Given the description of an element on the screen output the (x, y) to click on. 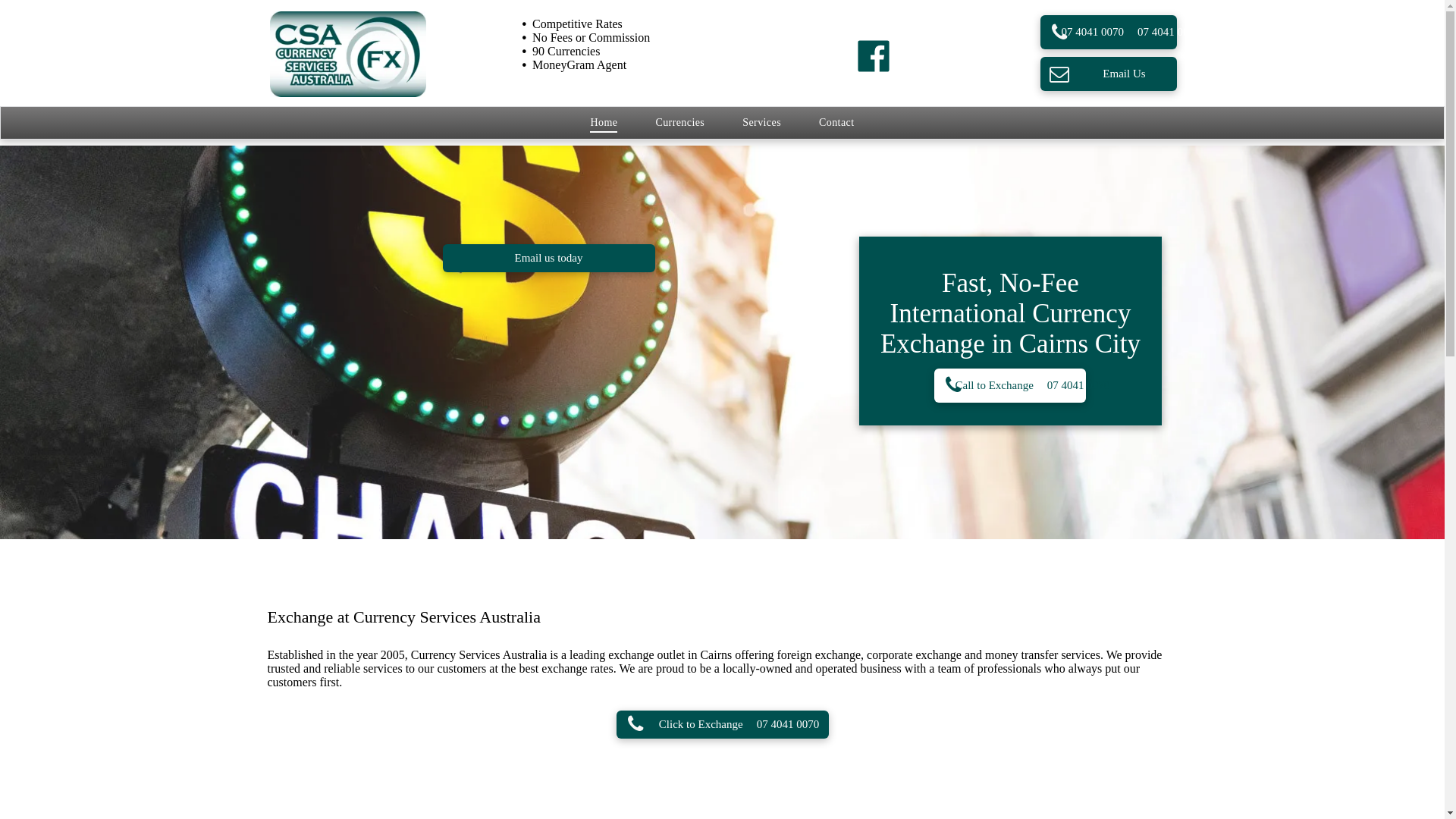
07 4041 0070 07 4041 0070 Element type: text (1108, 32)
Services Element type: text (761, 122)
Click to Exchange 07 4041 0070 Element type: text (721, 724)
Home Element type: text (603, 122)
Call to Exchange 07 4041 0070 Element type: text (1009, 385)
Contact Element type: text (836, 122)
Email Us Element type: text (1108, 73)
Currencies Element type: text (679, 122)
Email us today Element type: text (548, 258)
